Given the description of an element on the screen output the (x, y) to click on. 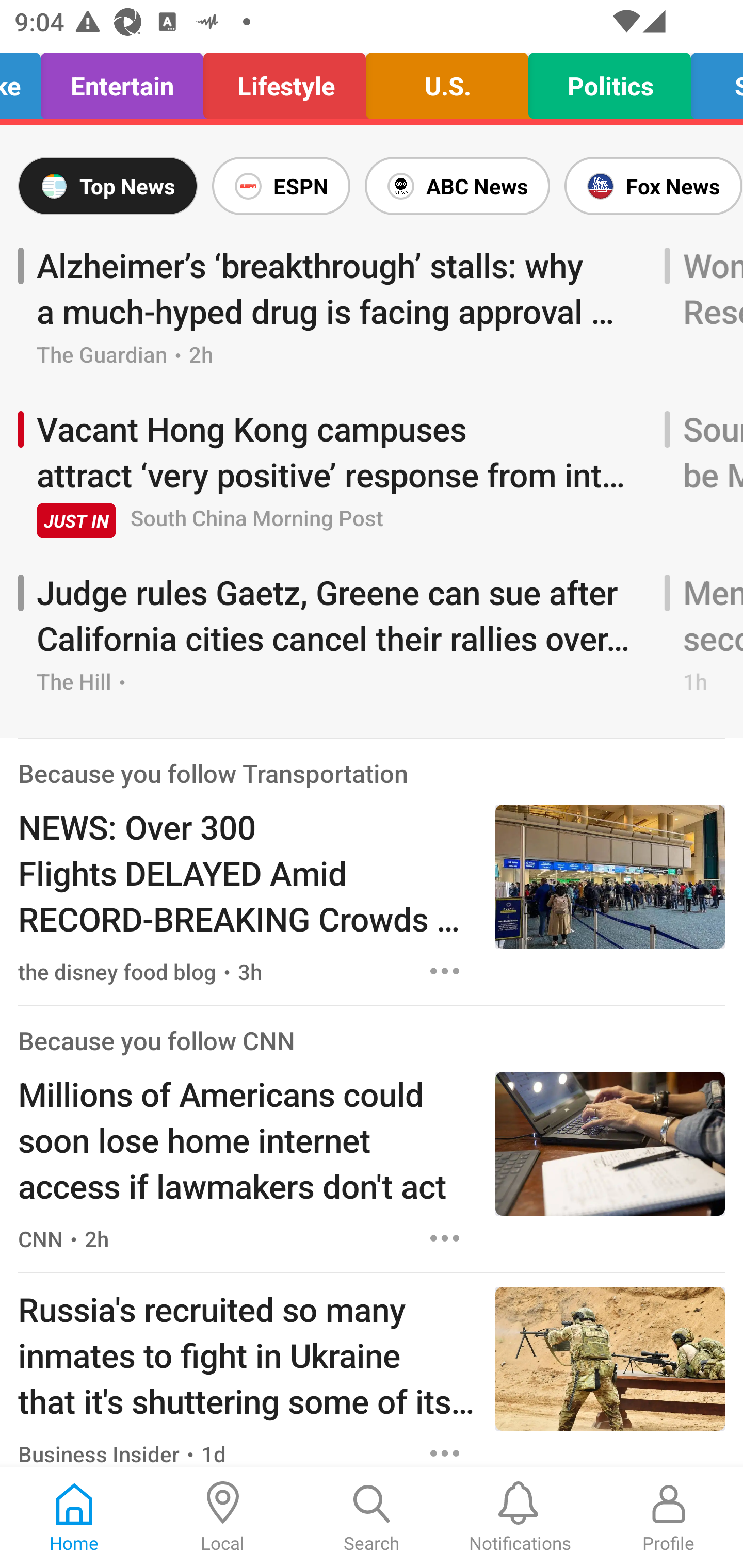
Entertain (121, 81)
Lifestyle (284, 81)
U.S. (447, 81)
Politics (609, 81)
ESPN (281, 185)
ABC News (457, 185)
Fox News (650, 185)
JUST IN (75, 520)
Because you follow Transportation (212, 772)
Options (444, 971)
Because you follow CNN (155, 1039)
Options (444, 1238)
Options (444, 1449)
Local (222, 1517)
Search (371, 1517)
Notifications (519, 1517)
Profile (668, 1517)
